Given the description of an element on the screen output the (x, y) to click on. 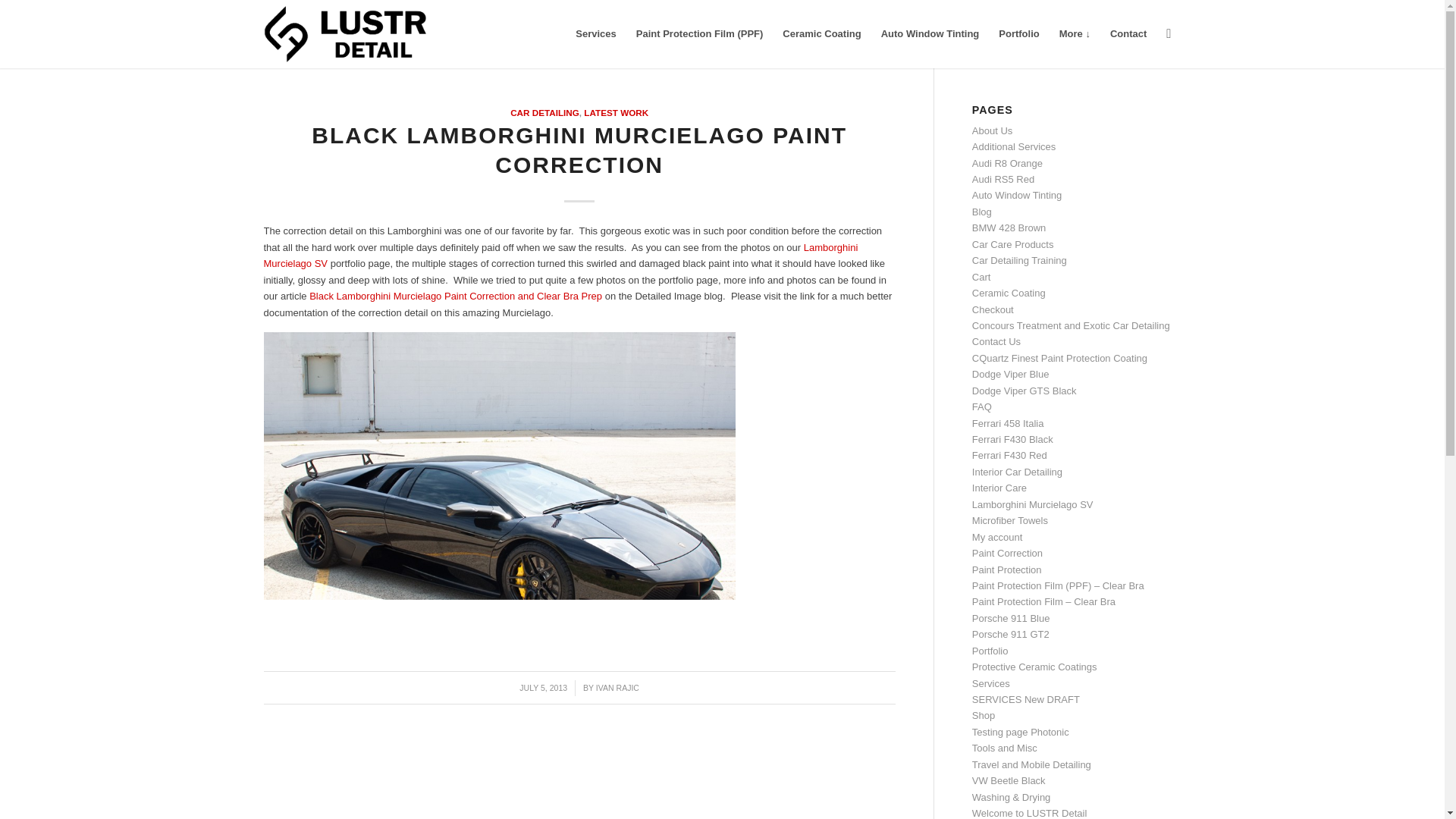
LATEST WORK (615, 112)
Car Care Products (1013, 244)
Audi R8 Orange (1007, 163)
Auto Window Tinting (1017, 194)
Cart (981, 276)
About Us (991, 130)
Car Detailing Training (1019, 260)
CAR DETAILING (545, 112)
Services (596, 33)
